Given the description of an element on the screen output the (x, y) to click on. 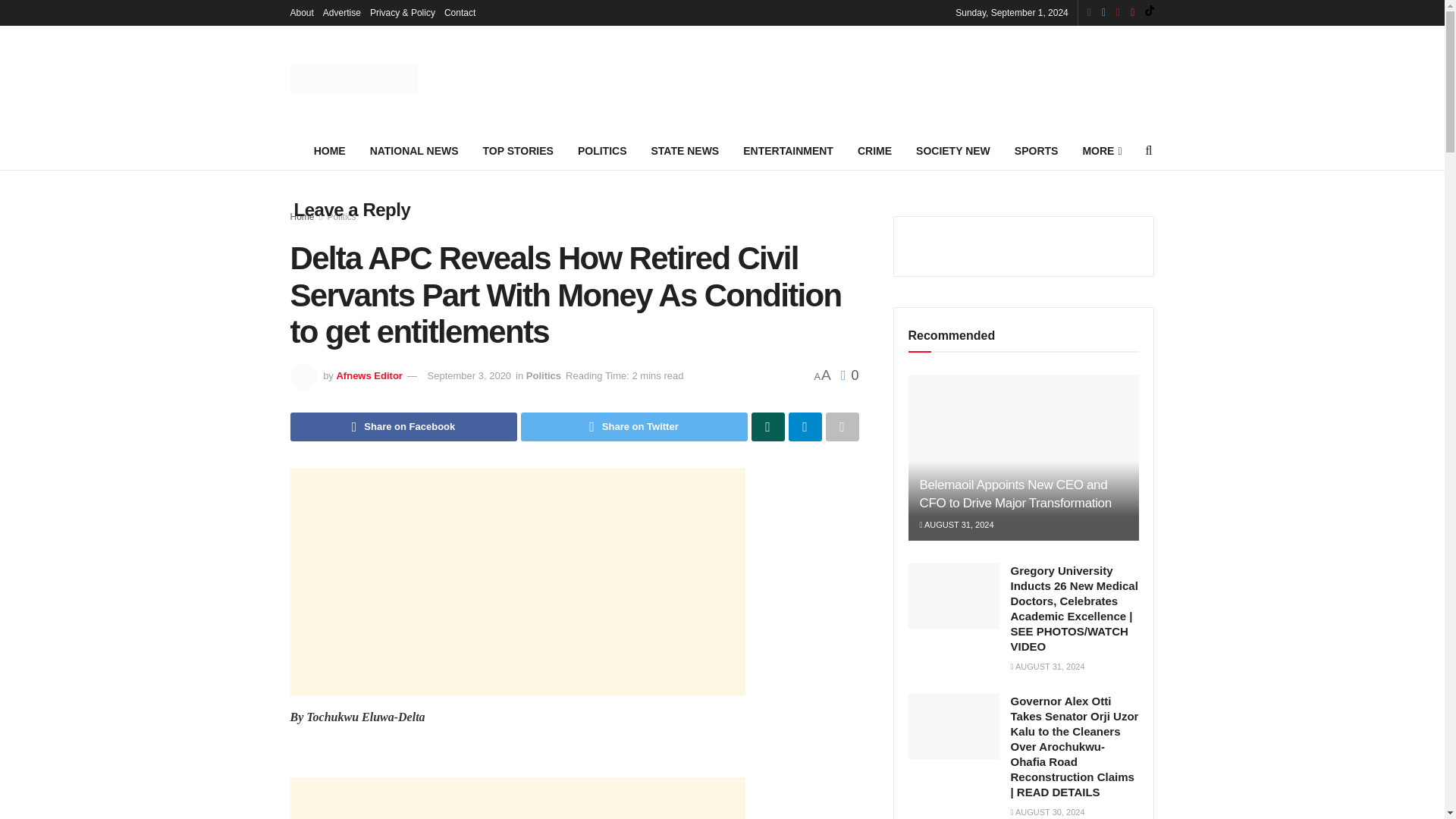
ENTERTAINMENT (787, 150)
HOME (322, 150)
POLITICS (602, 150)
STATE NEWS (684, 150)
SPORTS (1036, 150)
TOP STORIES (518, 150)
Contact (460, 12)
About (301, 12)
Advertise (342, 12)
MORE (1100, 150)
